Given the description of an element on the screen output the (x, y) to click on. 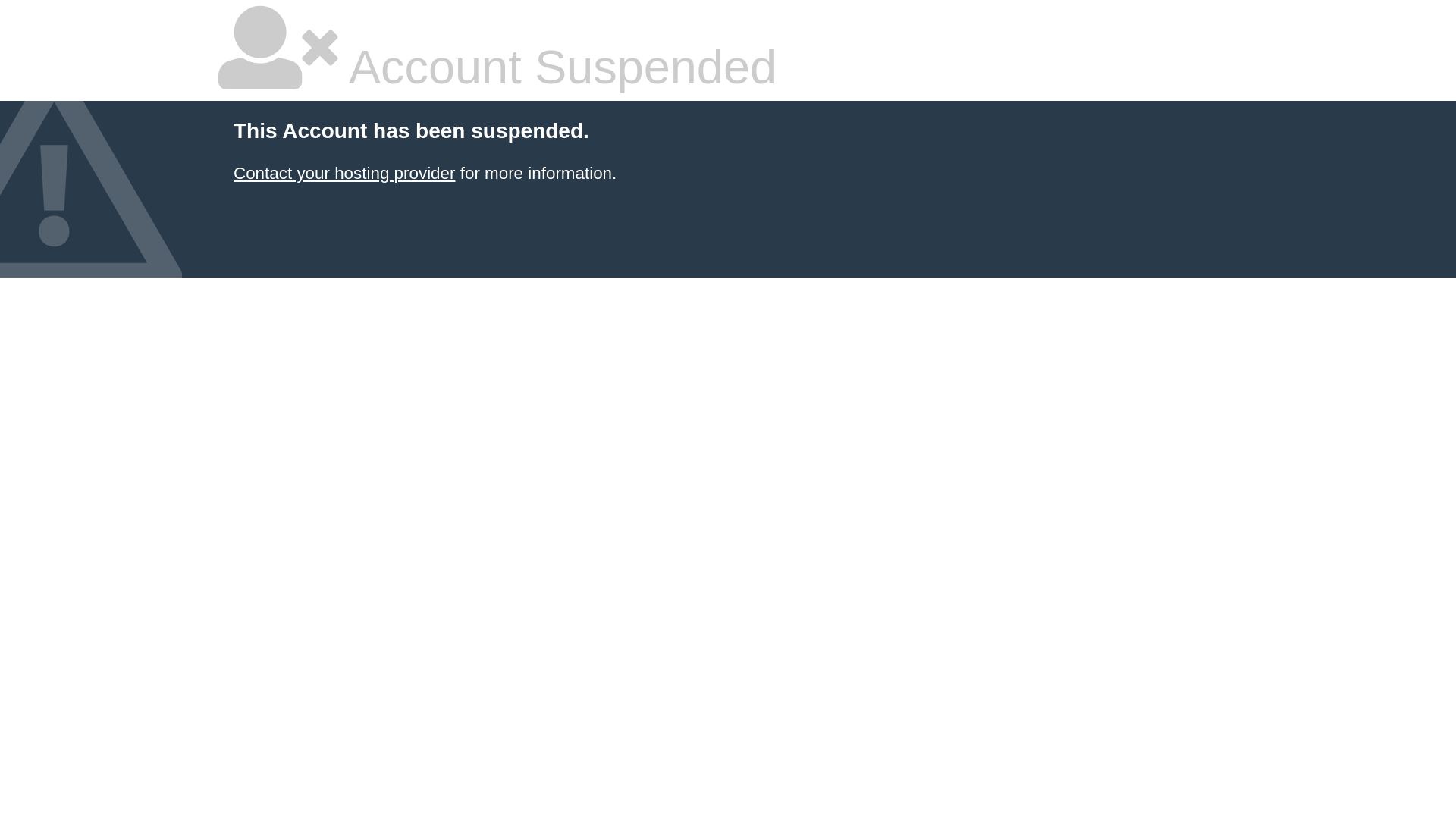
Contact your hosting provider Element type: text (344, 172)
